Given the description of an element on the screen output the (x, y) to click on. 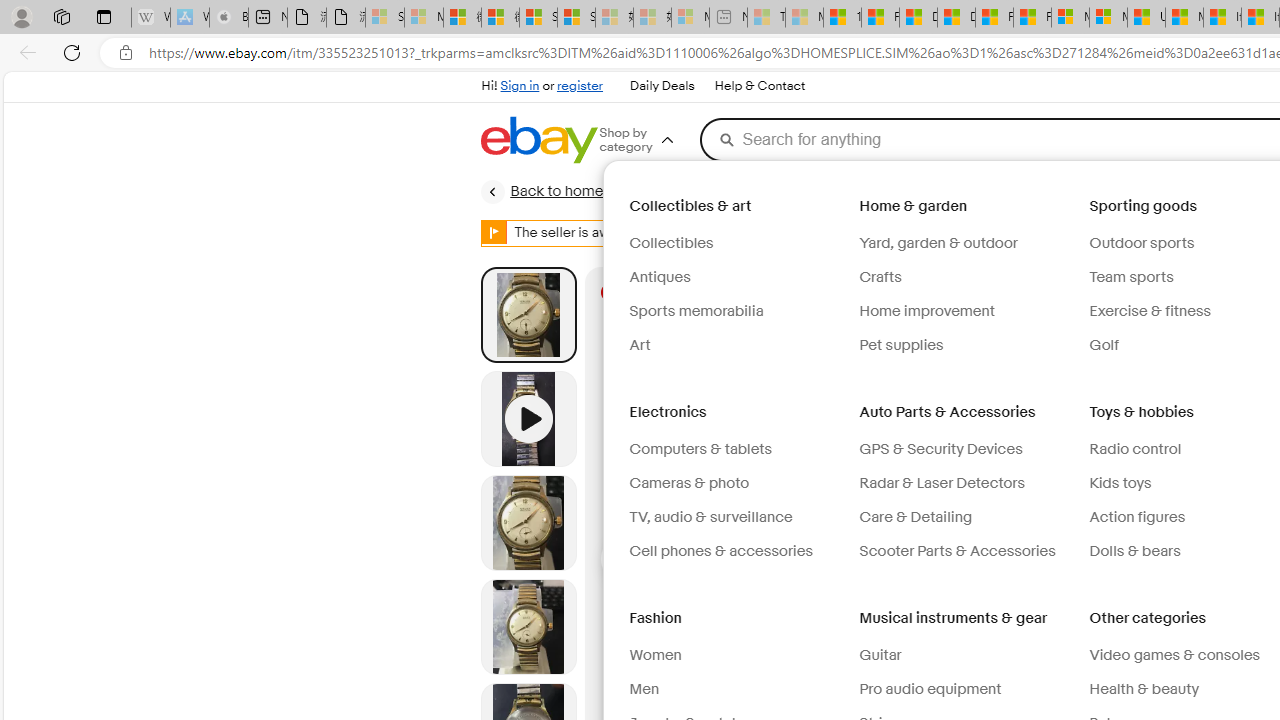
Women (736, 656)
Radar & Laser Detectors (942, 483)
Picture 1 of 13 (528, 314)
Wristwatches (1166, 191)
Back to home page (561, 191)
Home & garden (915, 206)
TV, audio & surveillance (736, 517)
Auto Parts & Accessories (949, 412)
Men (644, 689)
Watches, Parts & Accessories (911, 191)
Action figures (1137, 516)
Drinking tea every day is proven to delay biological aging (956, 17)
